Given the description of an element on the screen output the (x, y) to click on. 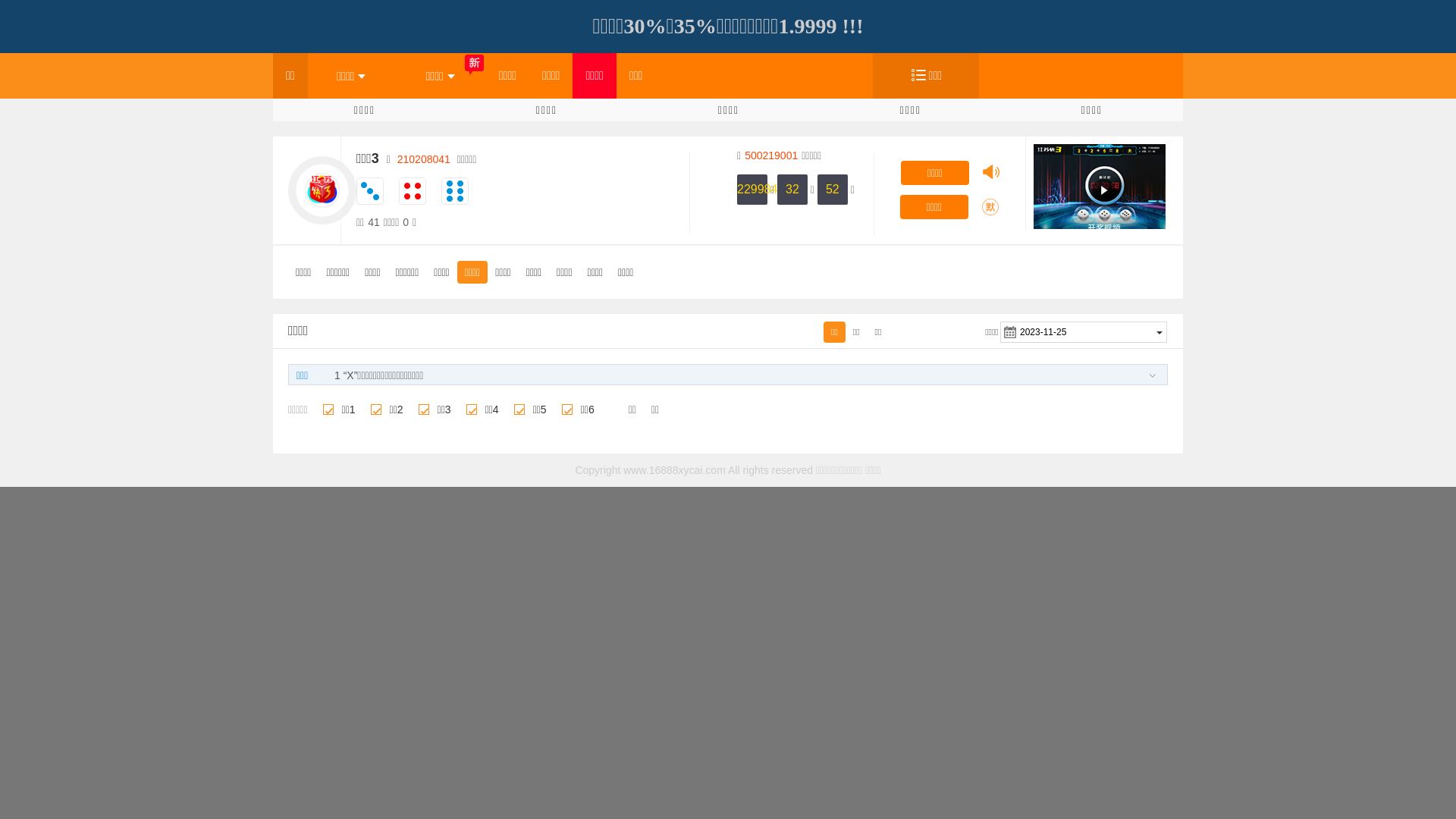
www.16888xycai.com Element type: text (674, 470)
